Given the description of an element on the screen output the (x, y) to click on. 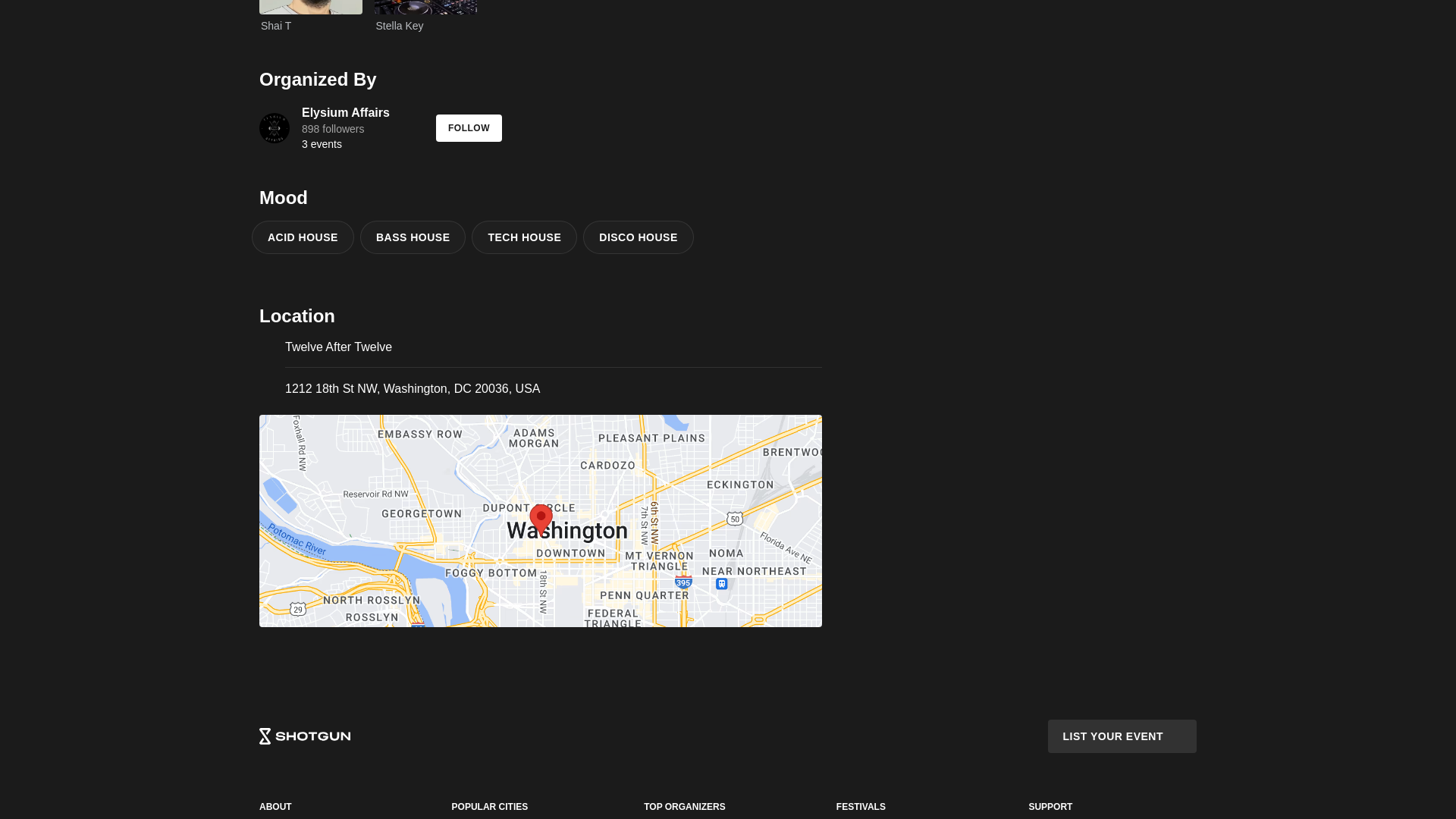
Twelve After Twelve (553, 346)
Stella Key (425, 16)
Shai T (310, 16)
LIST YOUR EVENT (1122, 735)
DISCO HOUSE (641, 237)
1212 18th St NW, Washington, DC 20036, USA (412, 388)
TECH HOUSE (527, 237)
ACID HOUSE (305, 237)
BASS HOUSE (327, 127)
